Given the description of an element on the screen output the (x, y) to click on. 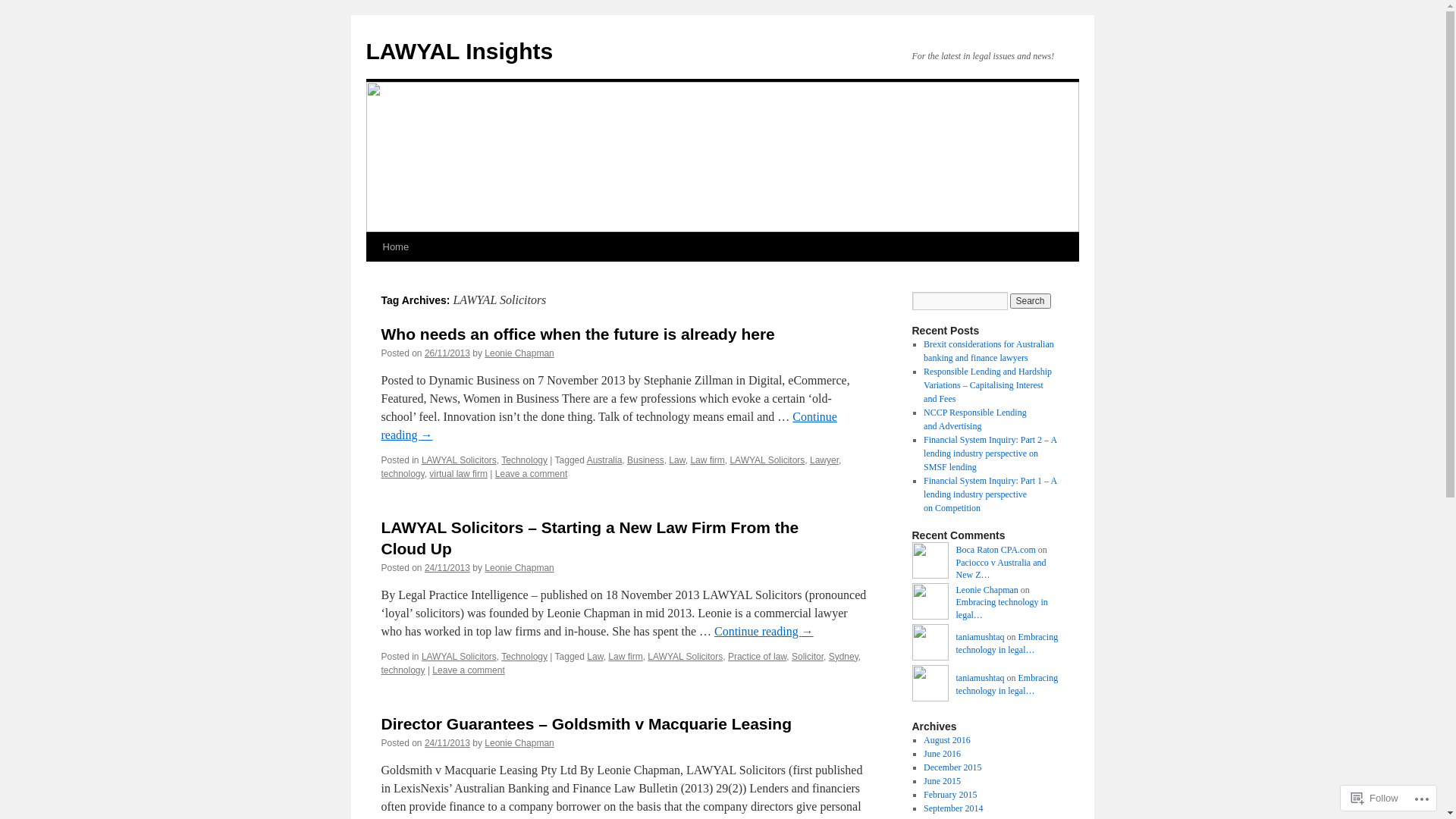
Sydney Element type: text (843, 656)
Home Element type: text (395, 246)
Boca Raton CPA.com Element type: text (995, 549)
Follow Element type: text (1374, 797)
Search Element type: text (1030, 300)
Leonie Chapman Element type: text (986, 589)
June 2016 Element type: text (941, 753)
LAWYAL Solicitors Element type: text (458, 460)
February 2015 Element type: text (949, 794)
Australia Element type: text (604, 460)
Business Element type: text (645, 460)
technology Element type: text (401, 473)
24/11/2013 Element type: text (447, 742)
taniamushtaq Element type: text (979, 636)
Leonie Chapman Element type: hover (929, 603)
24/11/2013 Element type: text (447, 567)
December 2015 Element type: text (952, 767)
LAWYAL Solicitors Element type: text (766, 460)
August 2016 Element type: text (946, 739)
Technology Element type: text (524, 460)
June 2015 Element type: text (941, 780)
Solicitor Element type: text (807, 656)
Leonie Chapman Element type: text (518, 353)
26/11/2013 Element type: text (447, 353)
Law firm Element type: text (707, 460)
LAWYAL Solicitors Element type: text (684, 656)
Technology Element type: text (524, 656)
Leonie Chapman Element type: text (518, 567)
LAWYAL Solicitors Element type: text (458, 656)
technology Element type: text (402, 670)
Lawyer Element type: text (823, 460)
LAWYAL Insights Element type: text (458, 50)
Practice of law Element type: text (757, 656)
Who needs an office when the future is already here Element type: text (577, 333)
taniamushtaq Element type: hover (929, 685)
Boca Raton CPA.com Element type: hover (929, 562)
Law Element type: text (676, 460)
taniamushtaq Element type: hover (929, 644)
Law Element type: text (594, 656)
Leonie Chapman Element type: text (518, 742)
taniamushtaq Element type: text (979, 677)
NCCP Responsible Lending and Advertising Element type: text (974, 419)
virtual law firm Element type: text (458, 473)
September 2014 Element type: text (952, 808)
Leave a comment Element type: text (468, 670)
Law firm Element type: text (625, 656)
Leave a comment Element type: text (531, 473)
